Given the description of an element on the screen output the (x, y) to click on. 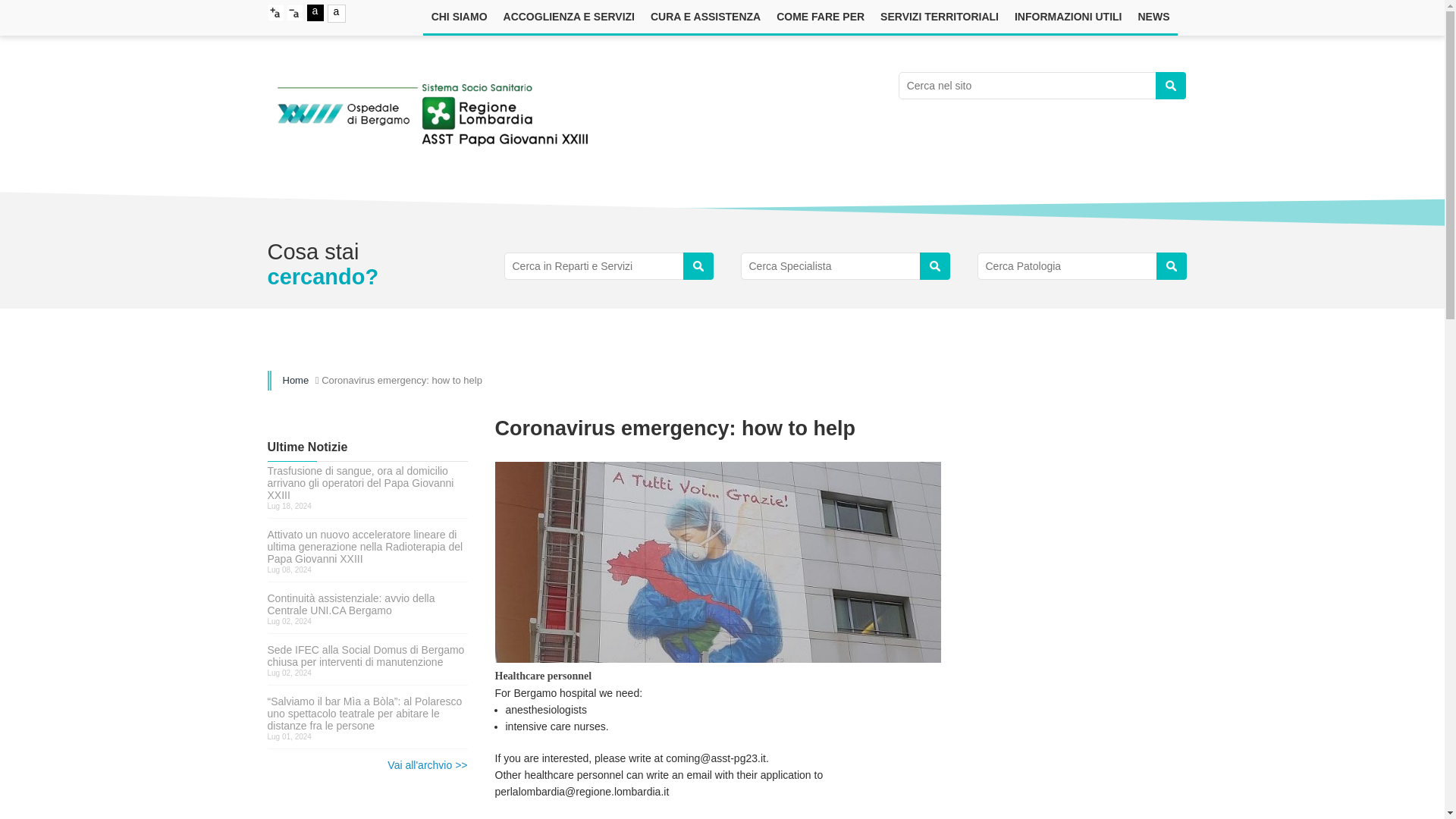
A (274, 12)
A (294, 12)
CHI SIAMO (459, 16)
